Given the description of an element on the screen output the (x, y) to click on. 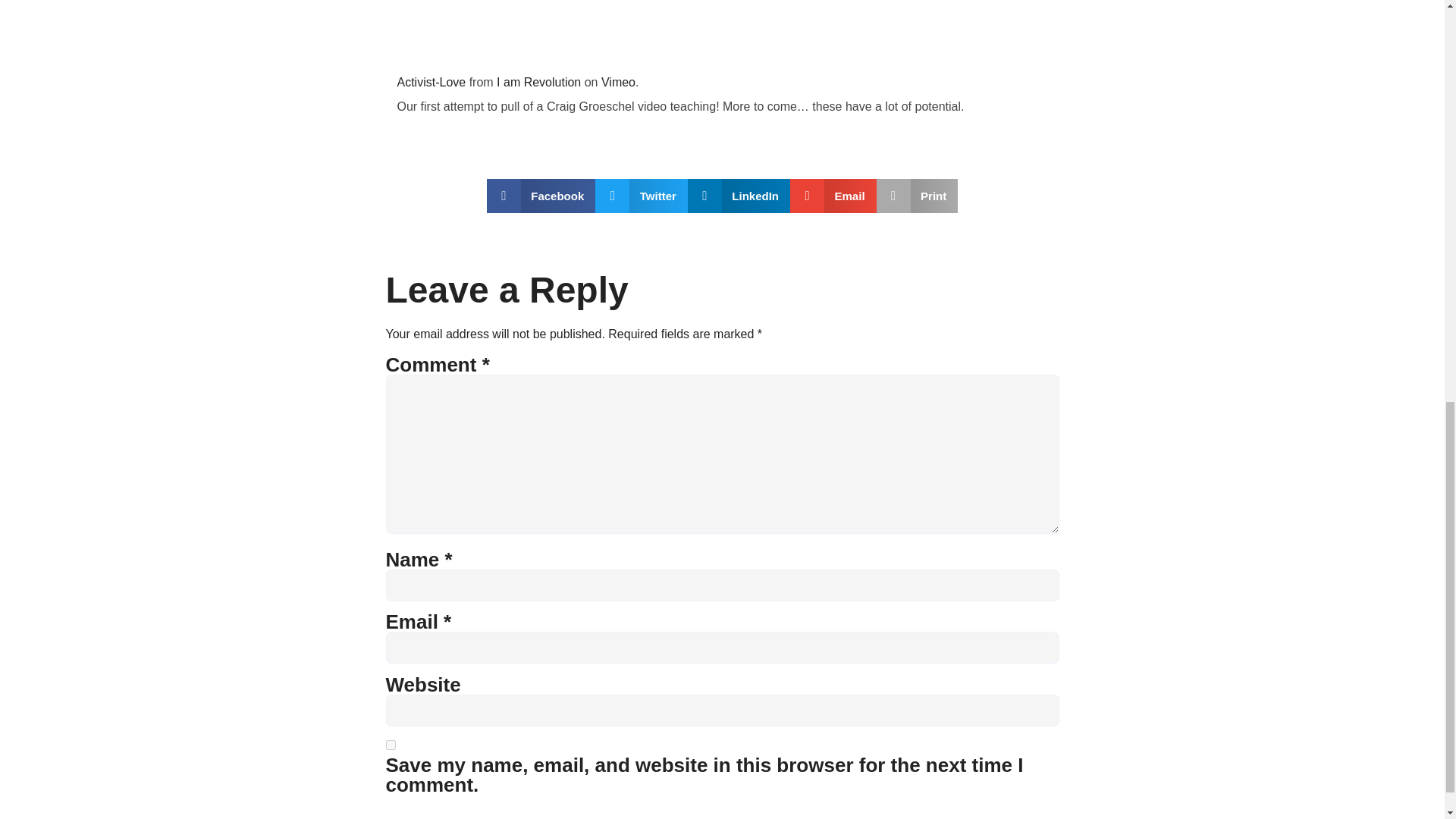
Vimeo (617, 82)
yes (389, 745)
Activist-Love (431, 82)
I am Revolution (538, 82)
